Given the description of an element on the screen output the (x, y) to click on. 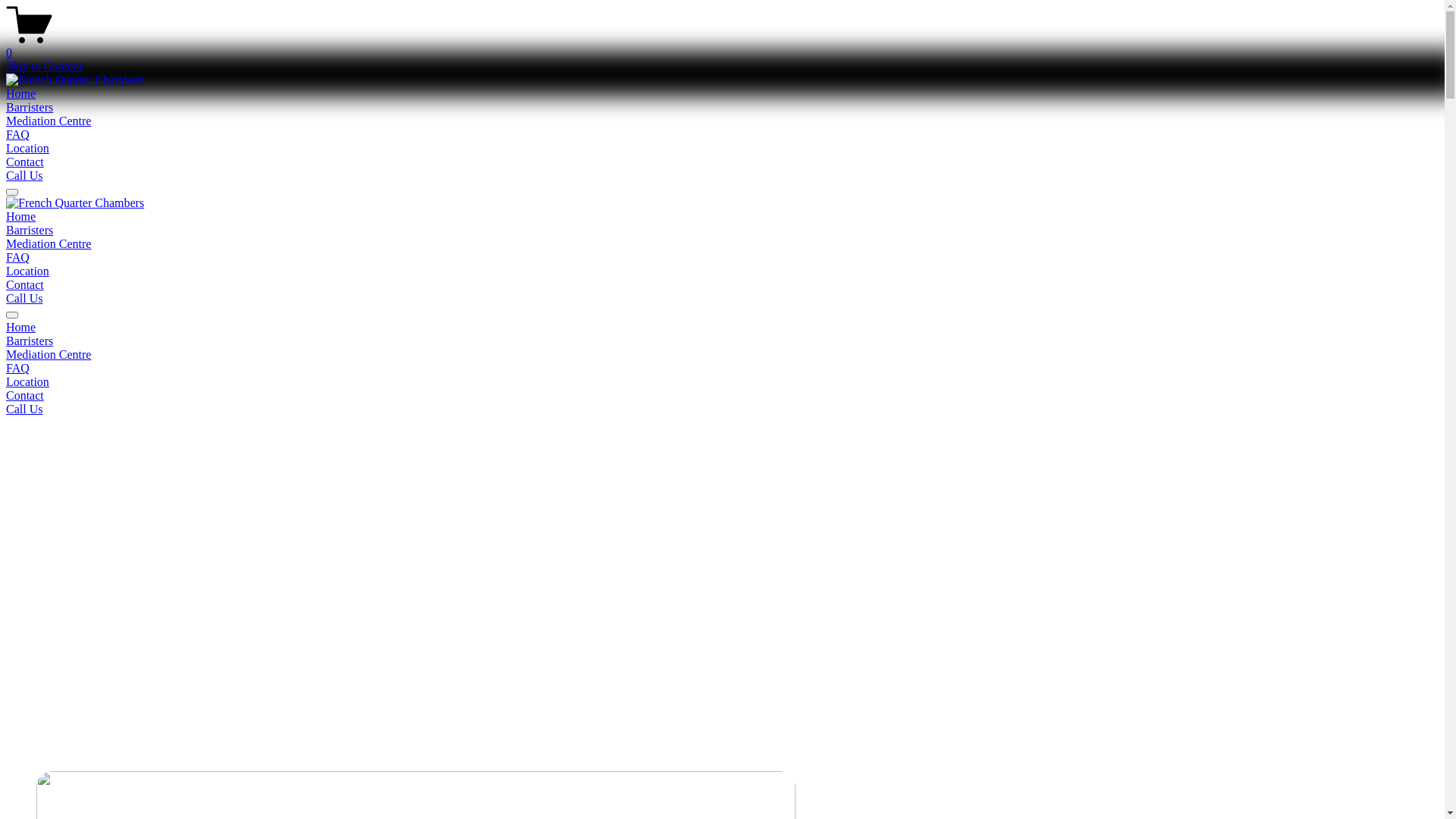
FAQ Element type: text (722, 368)
Location Element type: text (722, 382)
Contact Element type: text (722, 395)
FAQ Element type: text (17, 134)
FAQ Element type: text (17, 257)
Home Element type: text (20, 93)
0 Element type: text (722, 45)
Mediation Centre Element type: text (48, 243)
Barristers Element type: text (29, 106)
Skip to Content Element type: text (43, 65)
Contact Element type: text (24, 161)
Call Us Element type: text (24, 408)
Contact Element type: text (24, 284)
Home Element type: text (20, 216)
Mediation Centre Element type: text (48, 120)
Location Element type: text (27, 147)
Home Element type: text (722, 327)
Location Element type: text (27, 270)
Barristers Element type: text (722, 341)
Mediation Centre Element type: text (722, 354)
Call Us Element type: text (24, 297)
Call Us Element type: text (24, 175)
Barristers Element type: text (29, 229)
